Given the description of an element on the screen output the (x, y) to click on. 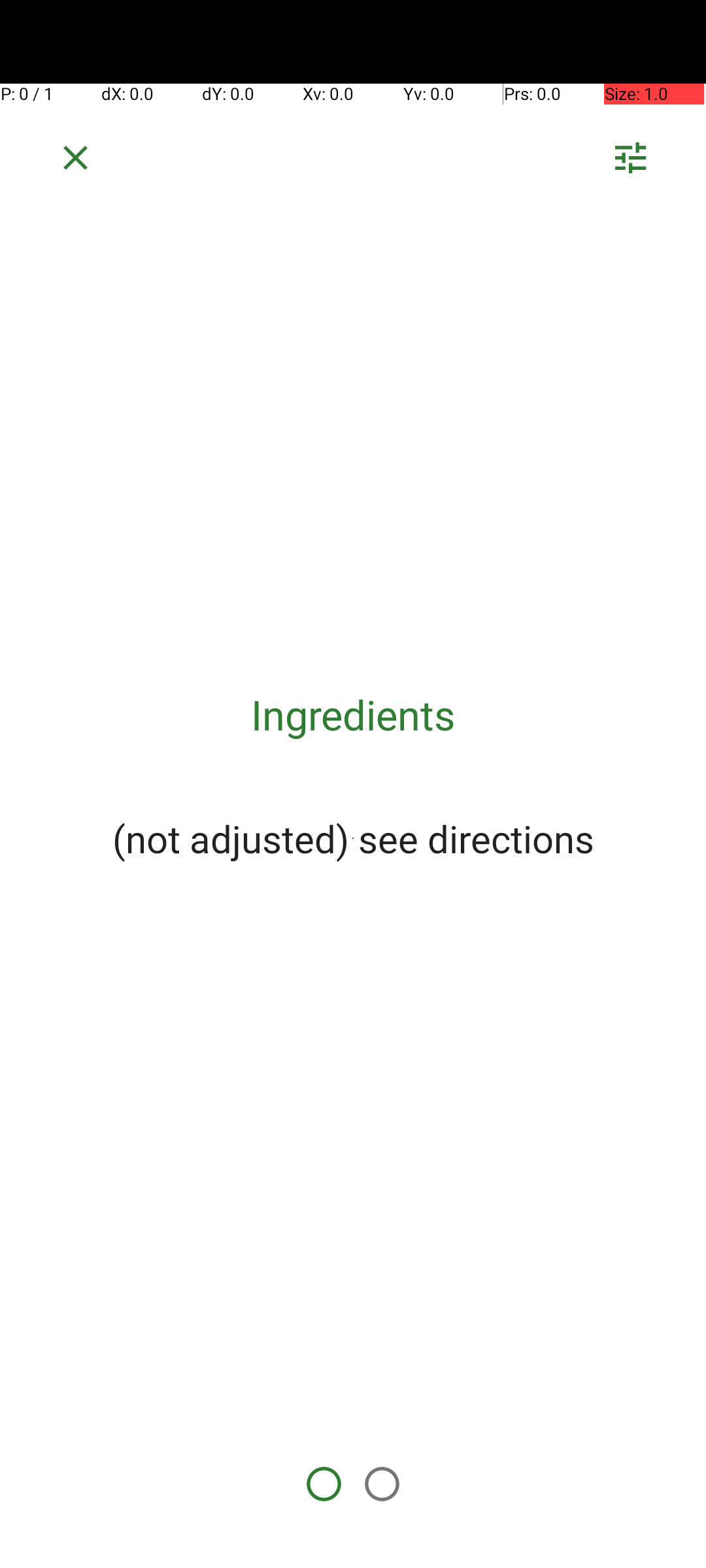
Ingredients Element type: android.widget.TextView (352, 714)
(not adjusted) see directions Element type: android.widget.TextView (352, 838)
